Given the description of an element on the screen output the (x, y) to click on. 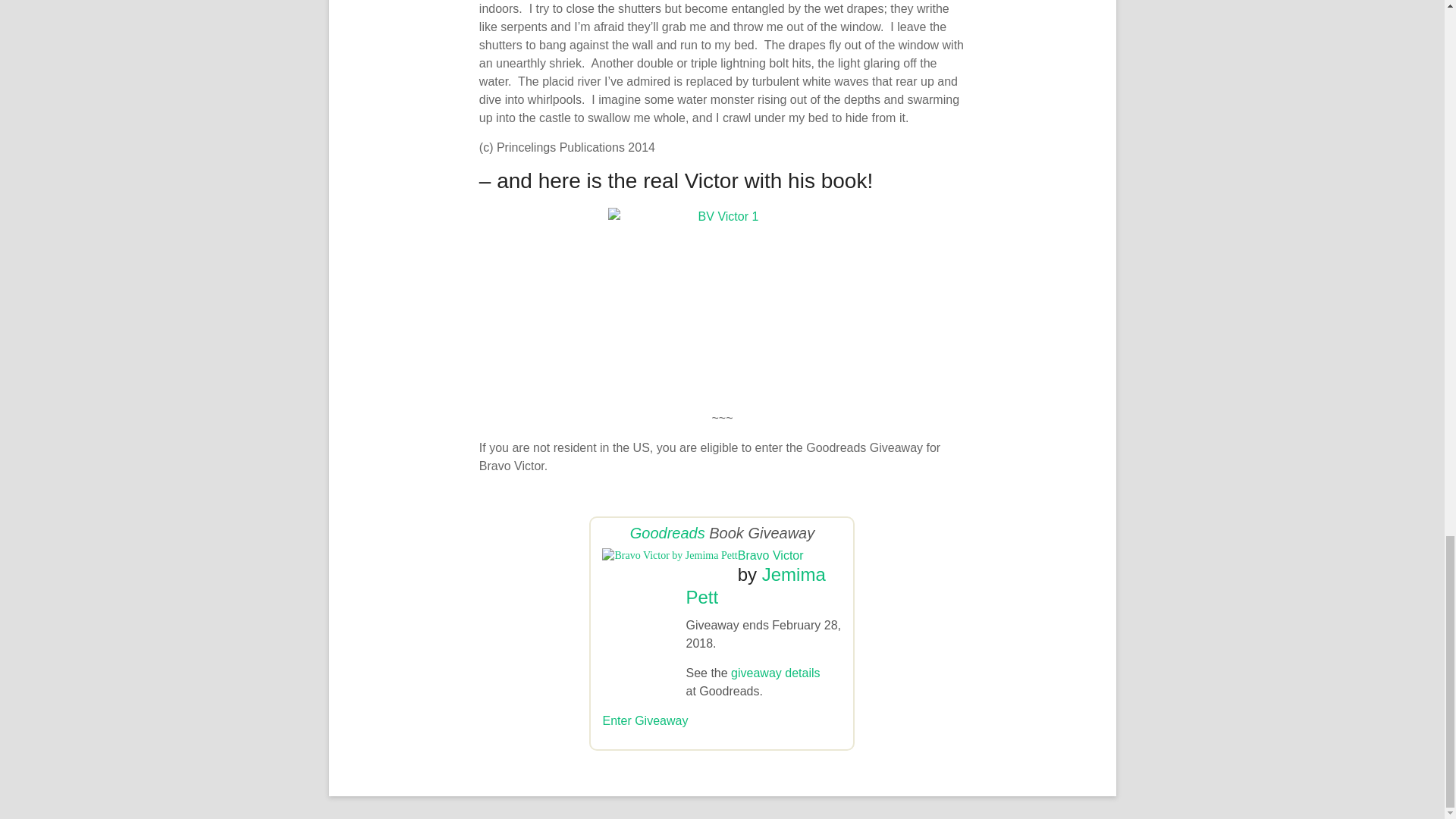
Bravo Victor by Jemima Pett (669, 555)
